Given the description of an element on the screen output the (x, y) to click on. 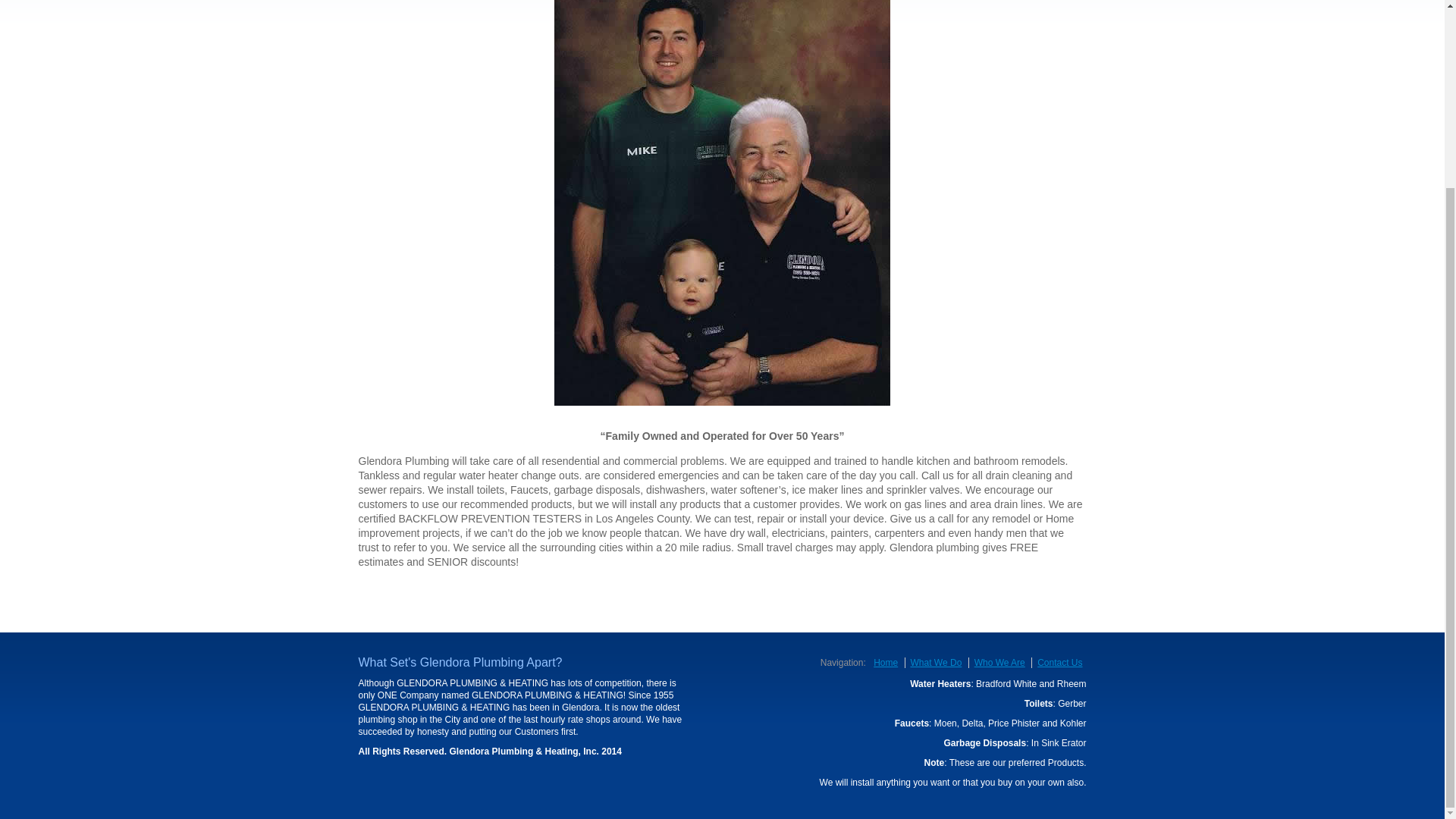
Home (884, 662)
Contact Us (1058, 662)
Who We Are (998, 662)
What We Do (934, 662)
